Given the description of an element on the screen output the (x, y) to click on. 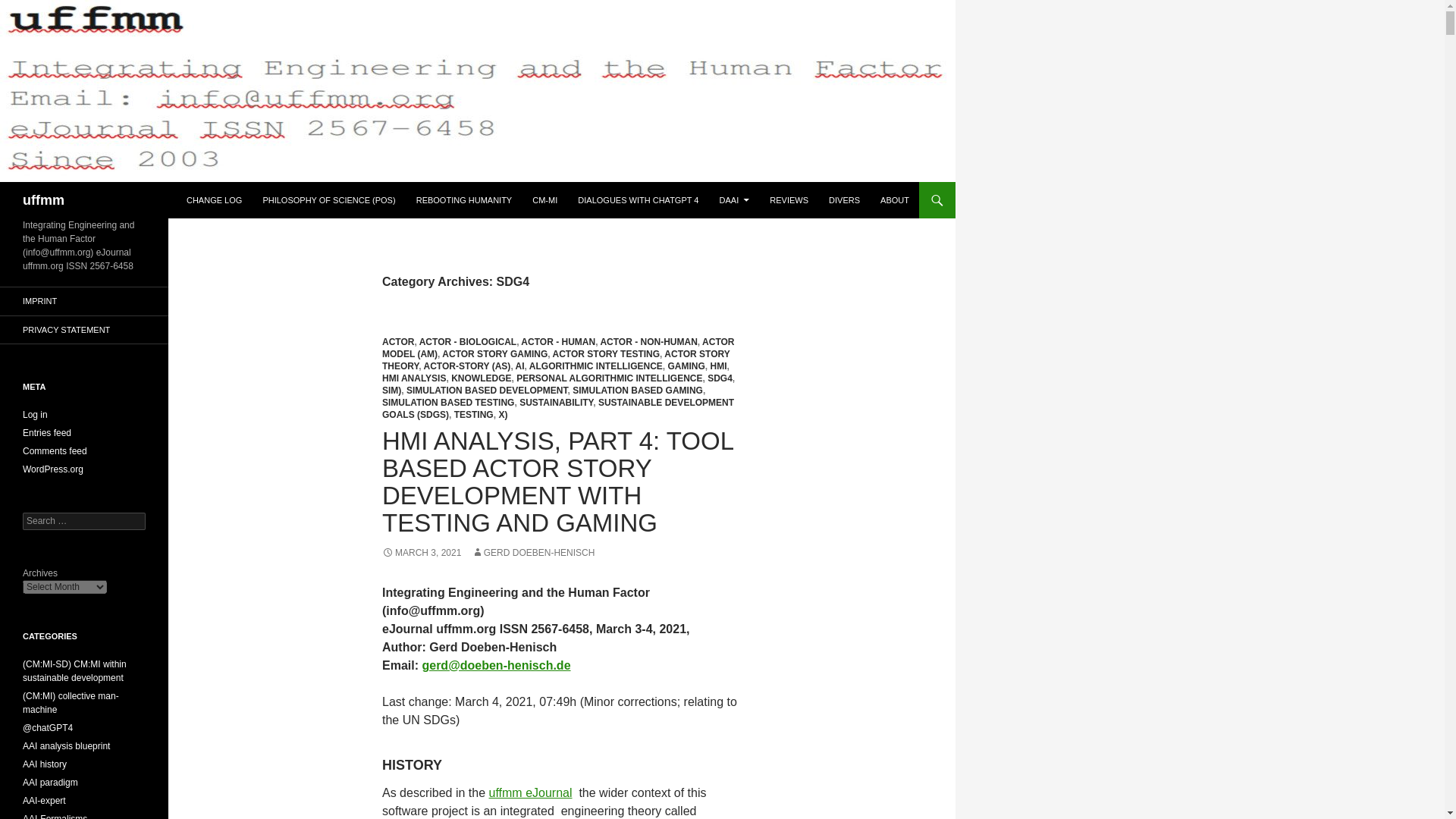
DIALOGUES WITH CHATGPT 4 (638, 199)
DIVERS (844, 199)
TESTING (473, 414)
ACTOR (397, 341)
SDG4 (719, 378)
ACTOR STORY TESTING (605, 353)
HMI (718, 366)
GAMING (686, 366)
SIMULATION BASED DEVELOPMENT (486, 389)
SIMULATION BASED TESTING (447, 402)
